Given the description of an element on the screen output the (x, y) to click on. 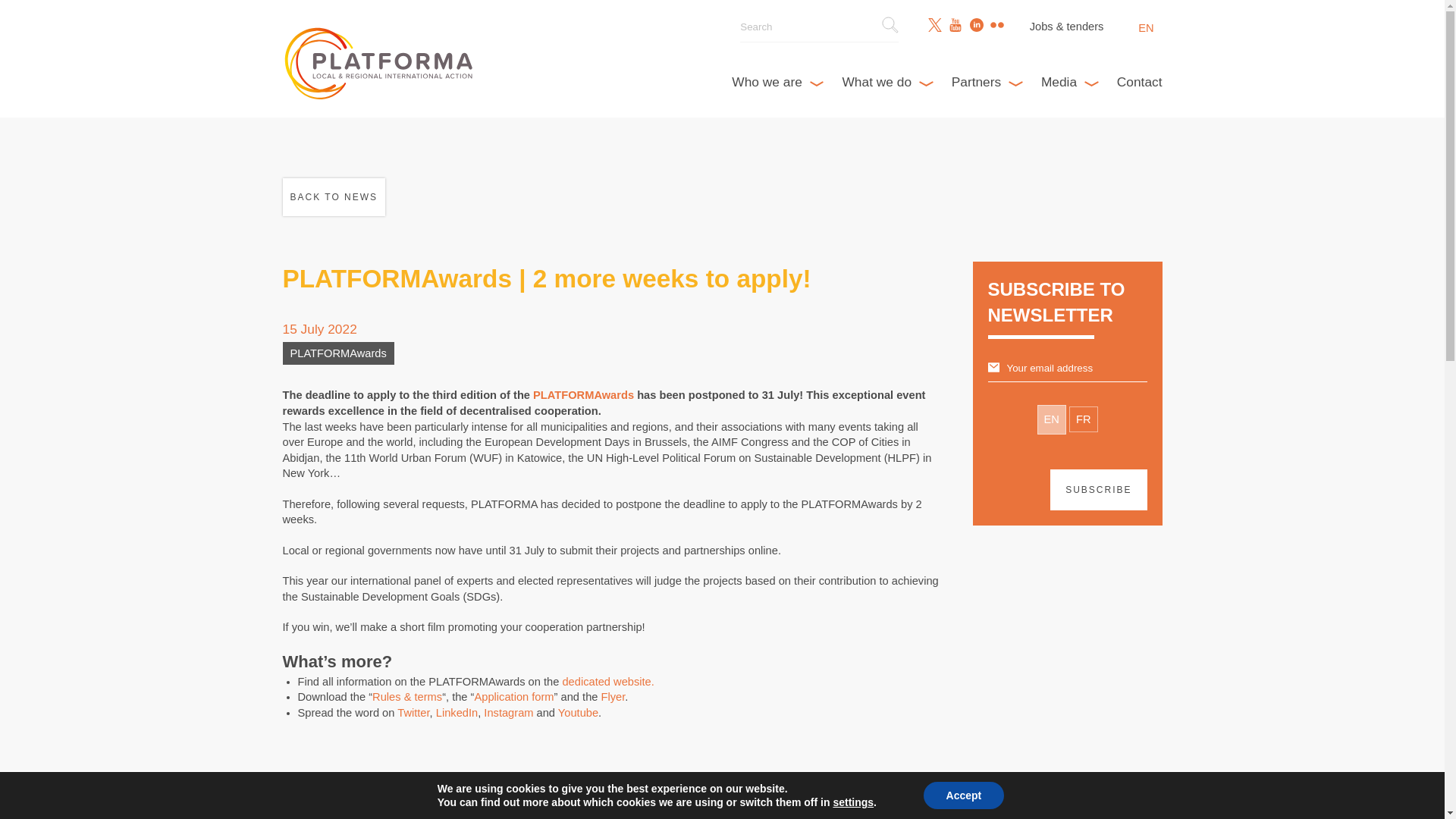
Application form (513, 696)
PLATFORMAwards (582, 395)
Partners (987, 81)
Twitter (413, 712)
Page 1 Copy 6 Created with Sketch. (890, 24)
PLATFORMAwards (337, 353)
EN (1145, 27)
Who we are (778, 81)
Contact (1138, 81)
Return to all news (333, 197)
dedicated website. (607, 681)
Media (1070, 81)
Flyer (613, 696)
What we do (888, 81)
BACK TO NEWS (333, 197)
